Given the description of an element on the screen output the (x, y) to click on. 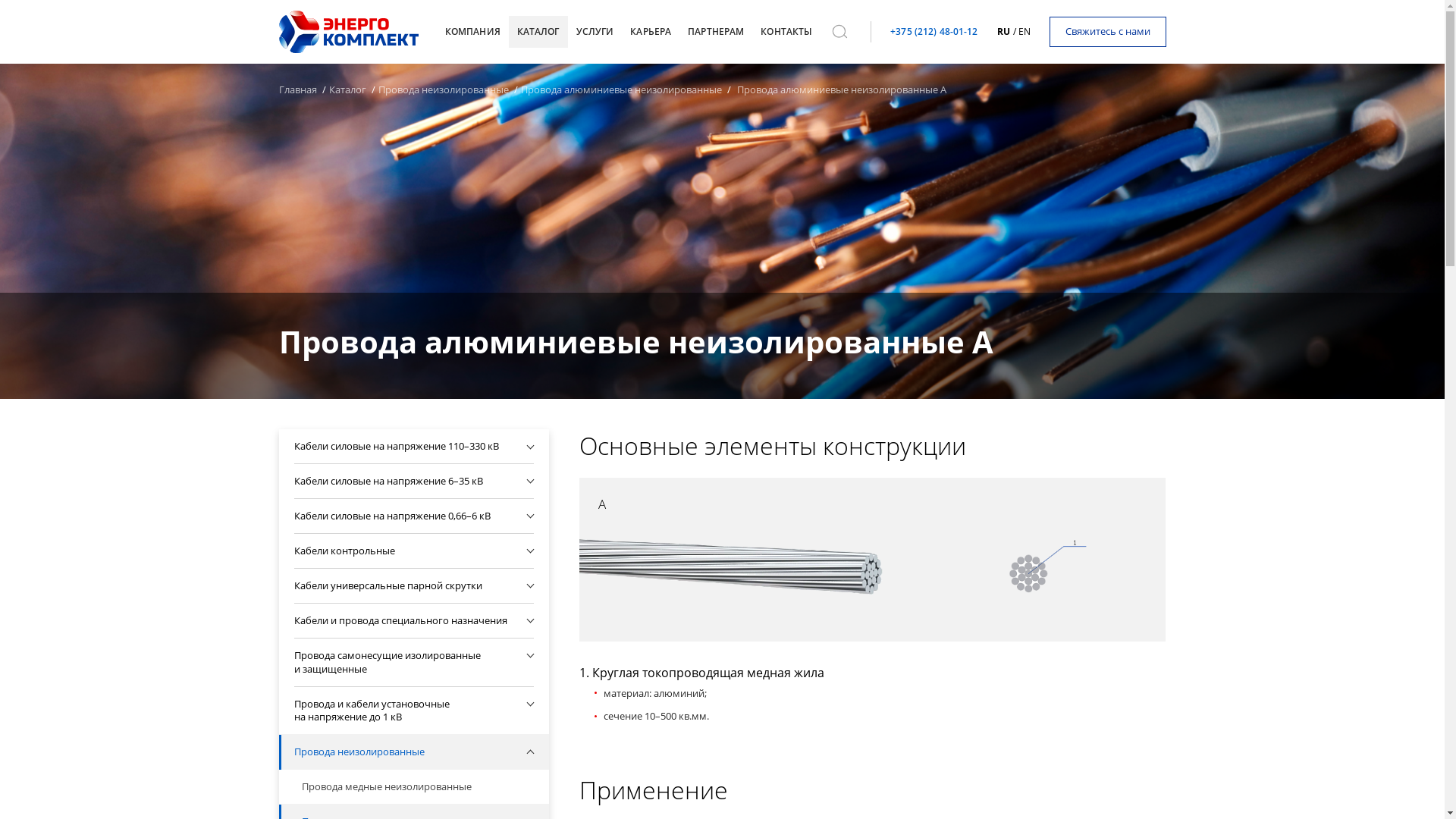
+375 (212) 48-01-12 Element type: text (933, 31)
EN Element type: text (1023, 31)
